Given the description of an element on the screen output the (x, y) to click on. 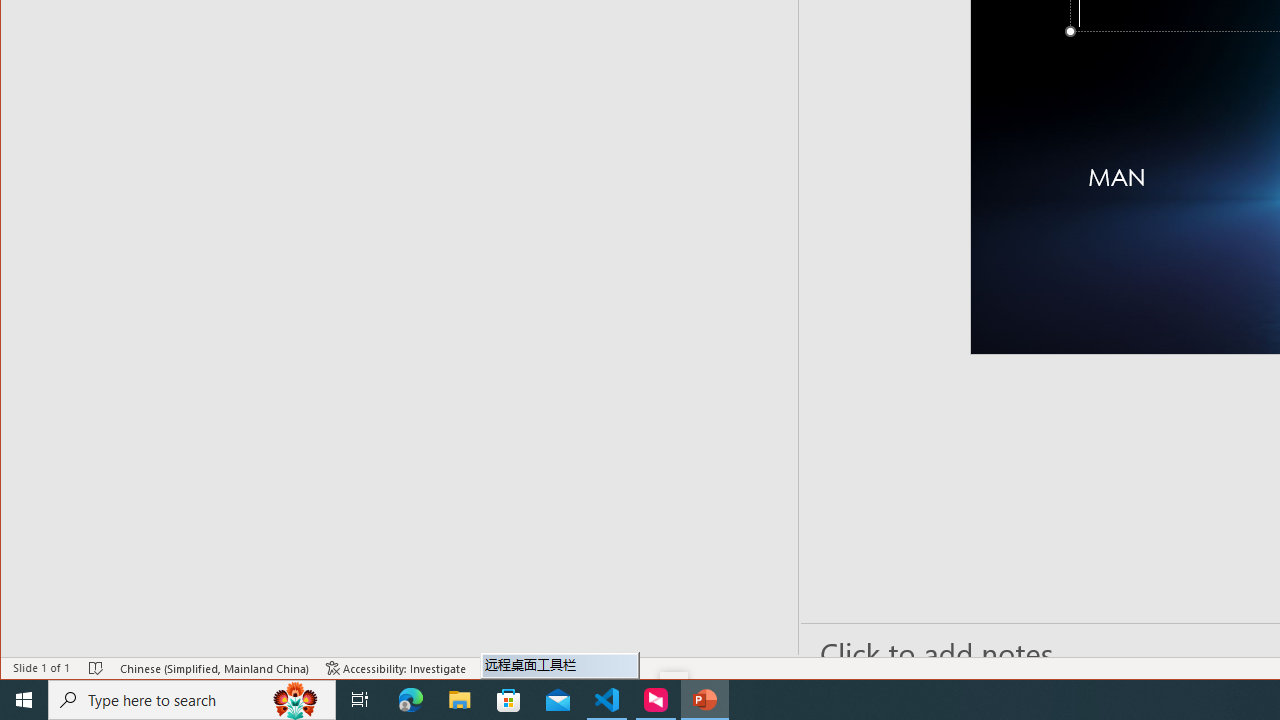
Accessibility Checker Accessibility: Investigate (395, 668)
File Explorer (460, 699)
Visual Studio Code - 1 running window (607, 699)
Type here to search (191, 699)
Spell Check No Errors (96, 668)
Microsoft Edge (411, 699)
PowerPoint - 1 running window (704, 699)
Microsoft Store (509, 699)
Start (24, 699)
Search highlights icon opens search home window (295, 699)
Task View (359, 699)
